Given the description of an element on the screen output the (x, y) to click on. 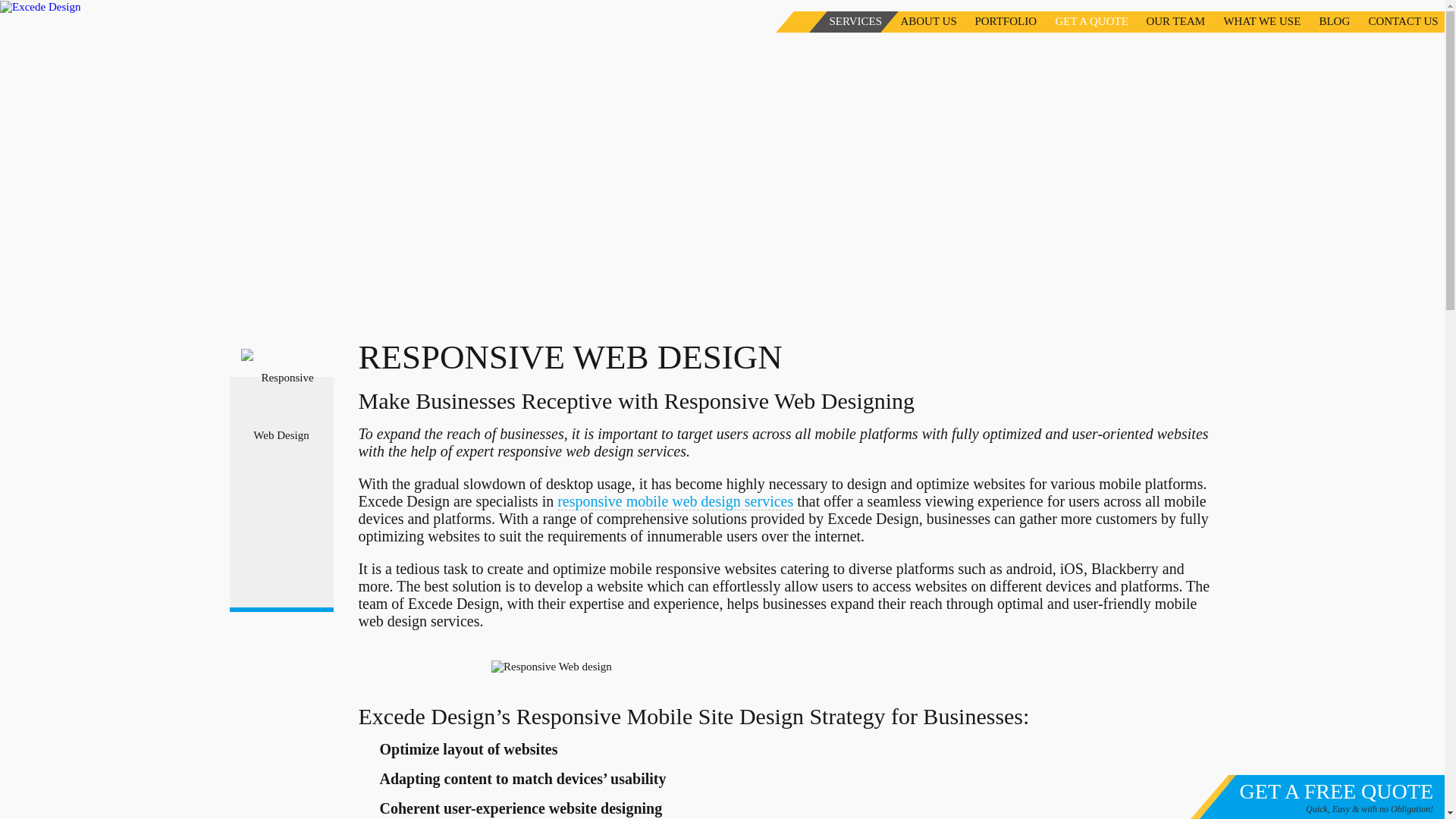
responsive mobile web design services (675, 501)
BLOG (1324, 21)
PORTFOLIO (997, 21)
Responsive Web design (786, 666)
OUR TEAM (1166, 21)
SERVICES (846, 21)
GET A QUOTE (1082, 21)
WHAT WE USE (1252, 21)
Excede Design (40, 6)
ABOUT US (919, 21)
